Given the description of an element on the screen output the (x, y) to click on. 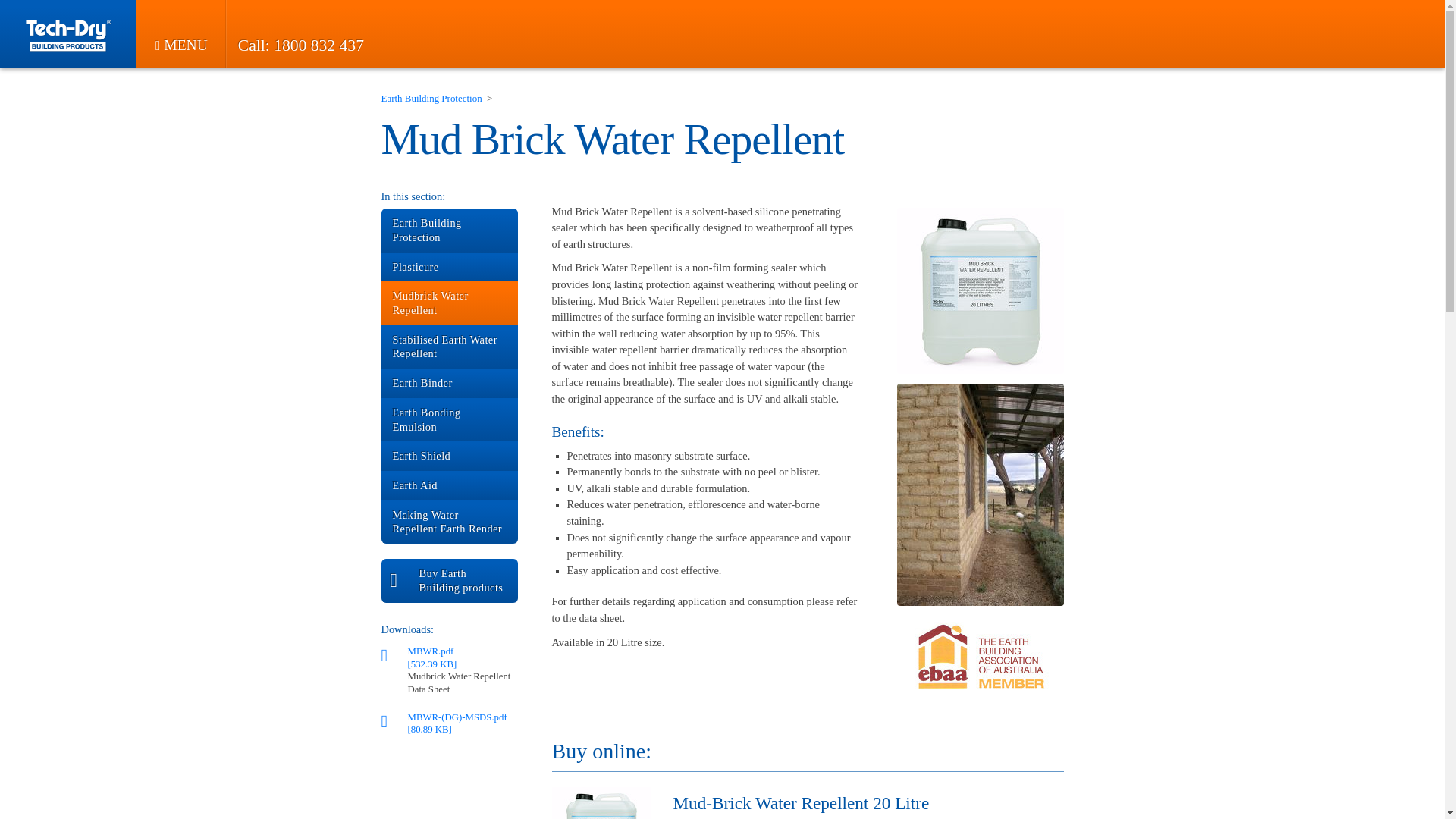
Back to Home (68, 35)
